Given the description of an element on the screen output the (x, y) to click on. 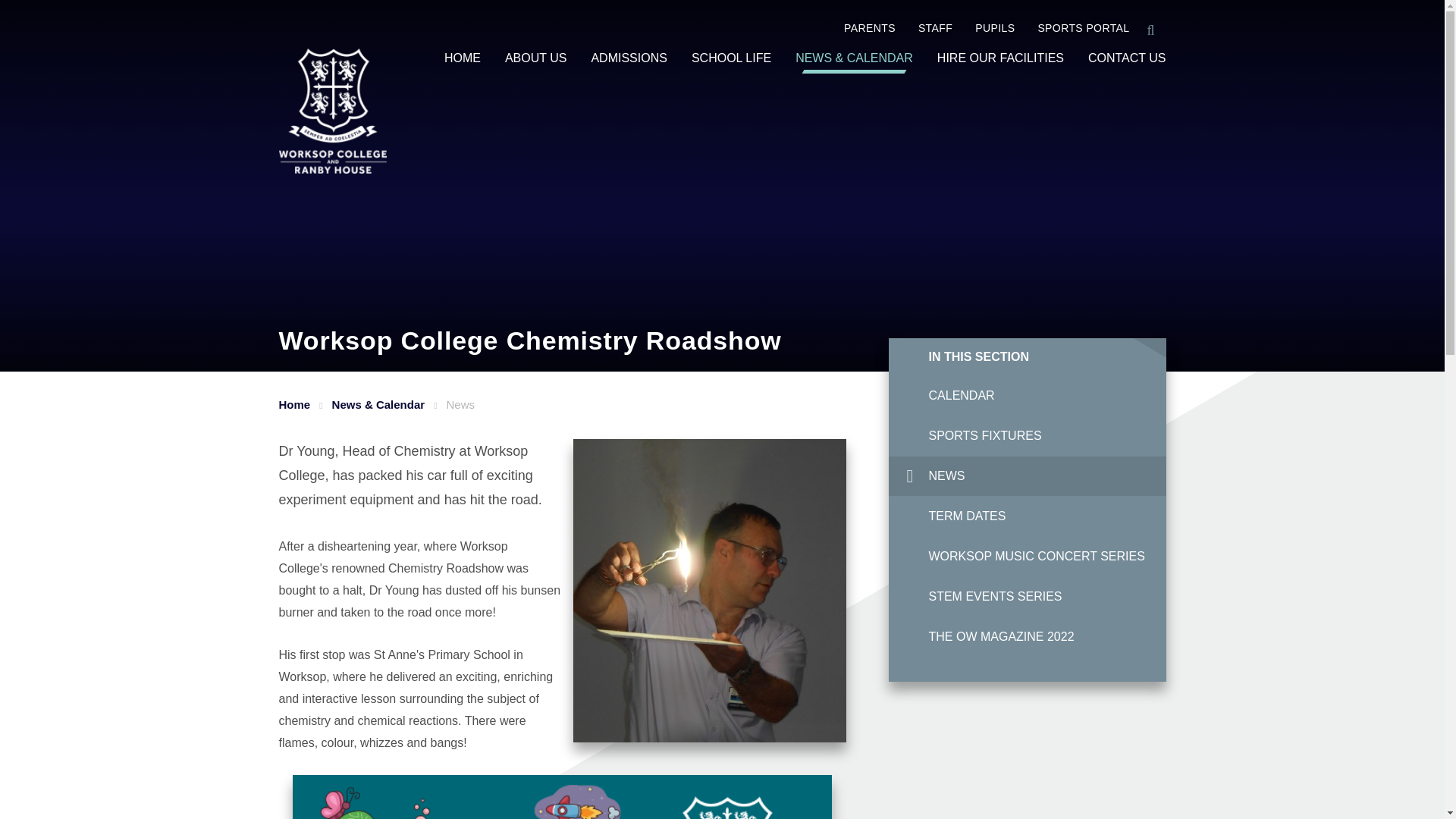
HOME (462, 58)
Pupils (983, 28)
Sports Portal (1071, 28)
Staff (923, 28)
ADMISSIONS (628, 58)
ABOUT US (536, 58)
Parents (858, 28)
